Given the description of an element on the screen output the (x, y) to click on. 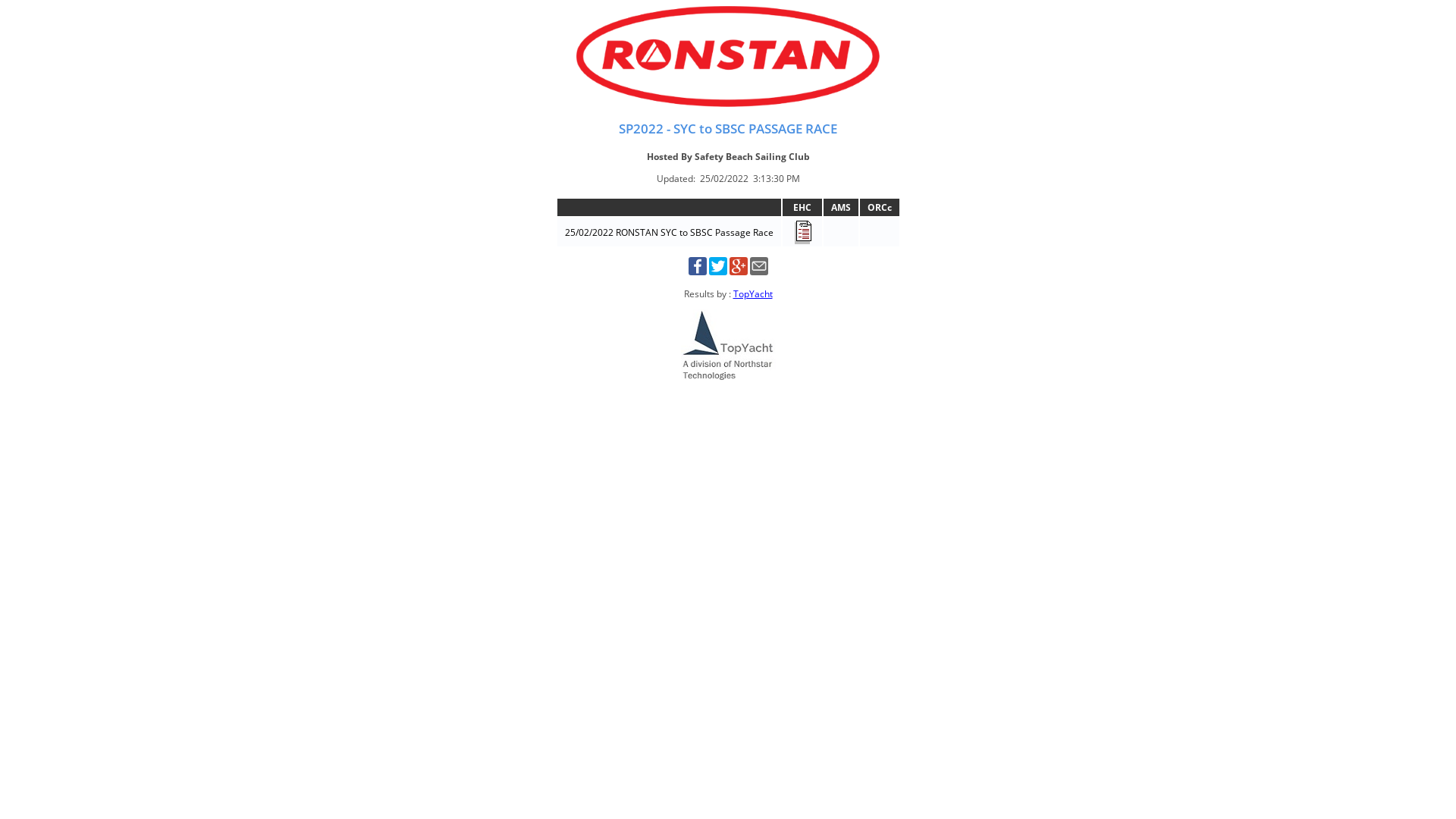
Tweet Element type: hover (717, 271)
TopYacht Element type: text (751, 293)
Send email Element type: hover (758, 271)
Share on Google+ Element type: hover (738, 271)
Share on Facebook Element type: hover (697, 271)
